Given the description of an element on the screen output the (x, y) to click on. 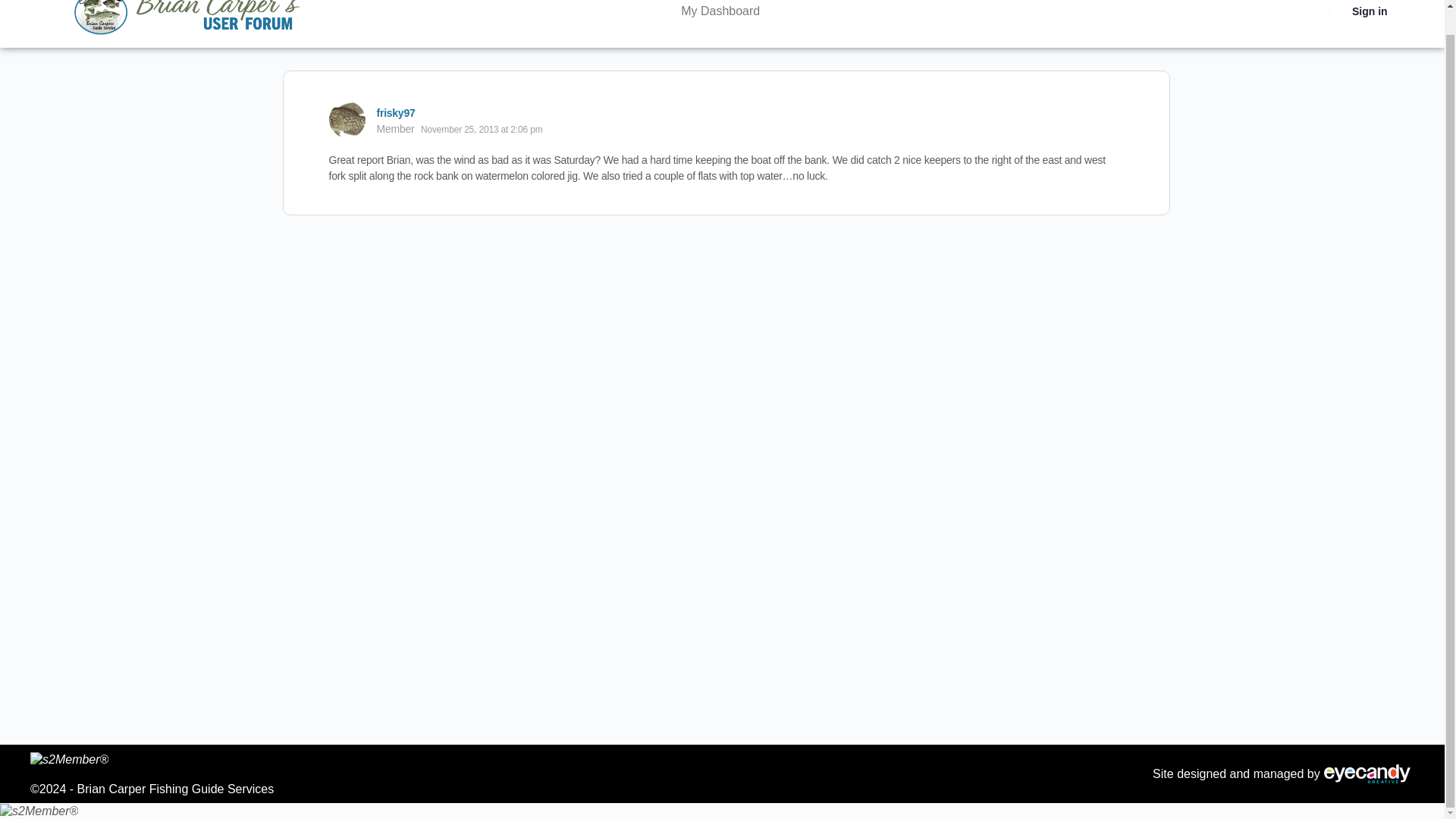
frisky97 (394, 112)
My Dashboard (719, 14)
View frisky97's profile (347, 119)
View frisky97's profile (394, 112)
Sign in (1369, 14)
